Given the description of an element on the screen output the (x, y) to click on. 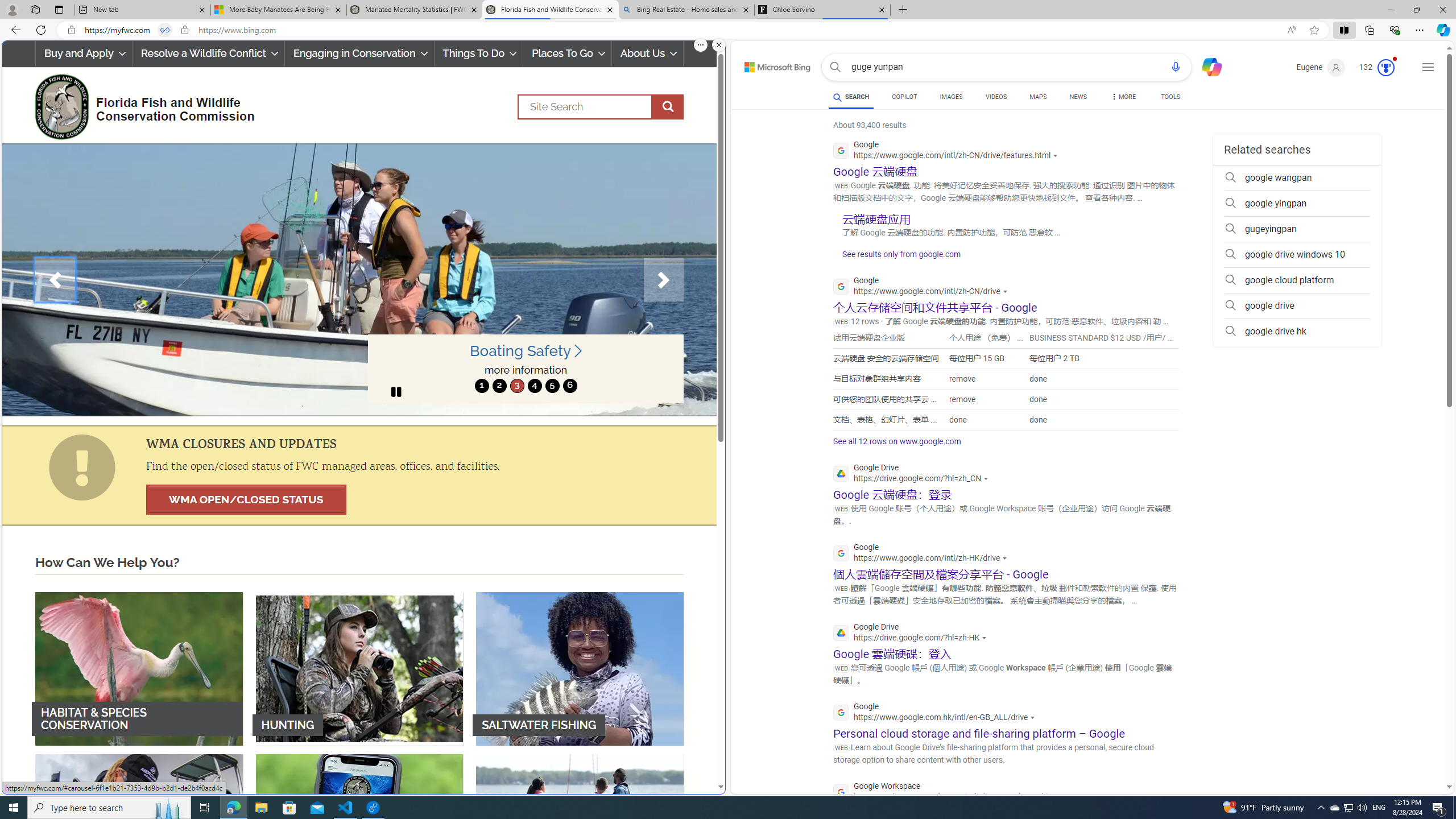
Resolve a Wildlife Conflict (207, 53)
Address and search bar (680, 29)
Microsoft Rewards 123 (1377, 67)
SEARCH (850, 96)
FWC Logo (61, 106)
Copilot (Ctrl+Shift+.) (1442, 29)
6 (569, 385)
New Tab (903, 9)
WMA OPEN/CLOSED STATUS (245, 499)
Dropdown Menu (1123, 96)
Close tab (881, 9)
Google Workspace (950, 793)
VIDEOS (995, 98)
5 (551, 385)
